Given the description of an element on the screen output the (x, y) to click on. 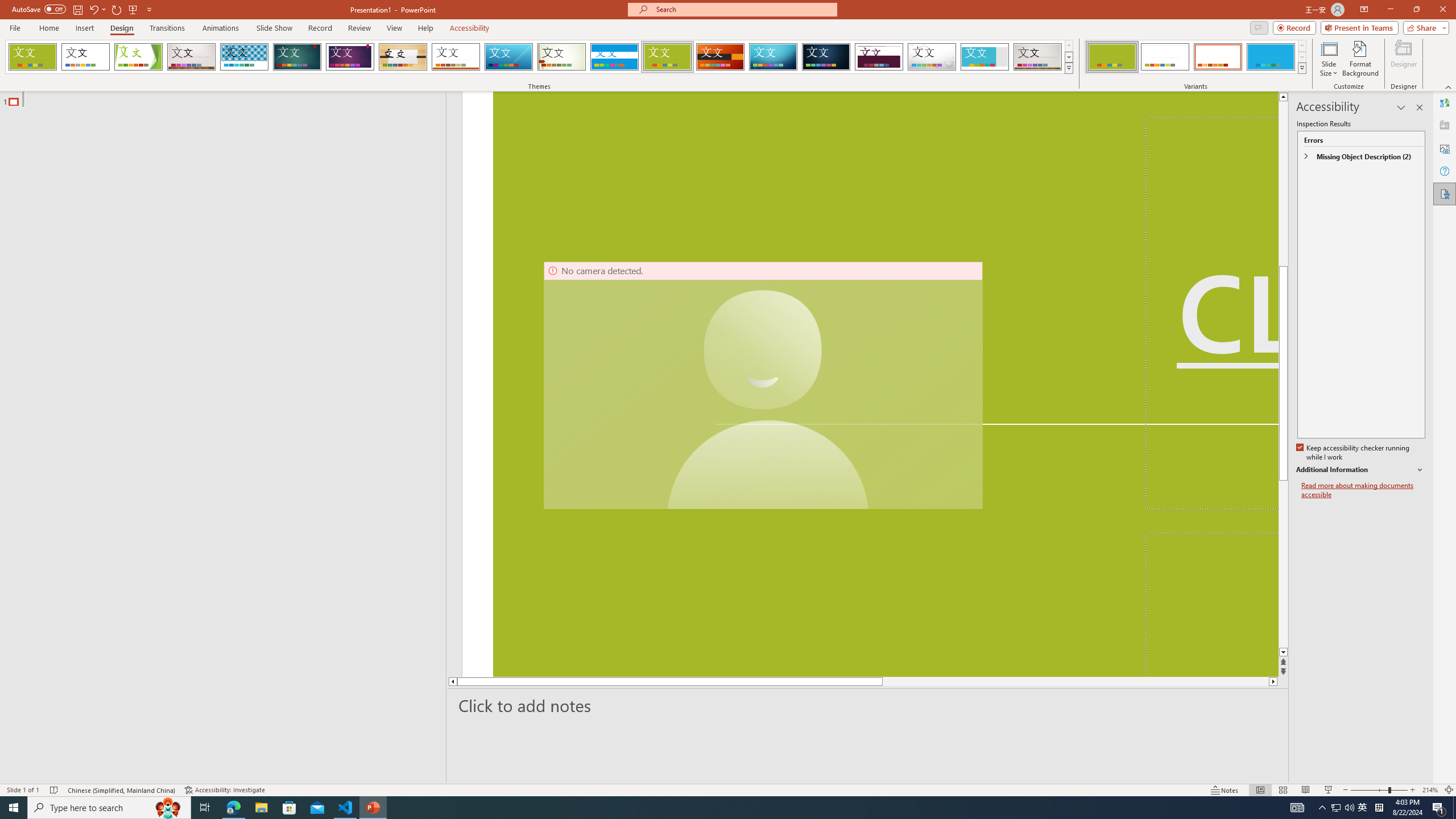
Droplet (931, 56)
Damask (826, 56)
Berlin (720, 56)
Format Background (1360, 58)
Banded (614, 56)
Gallery (1037, 56)
